Given the description of an element on the screen output the (x, y) to click on. 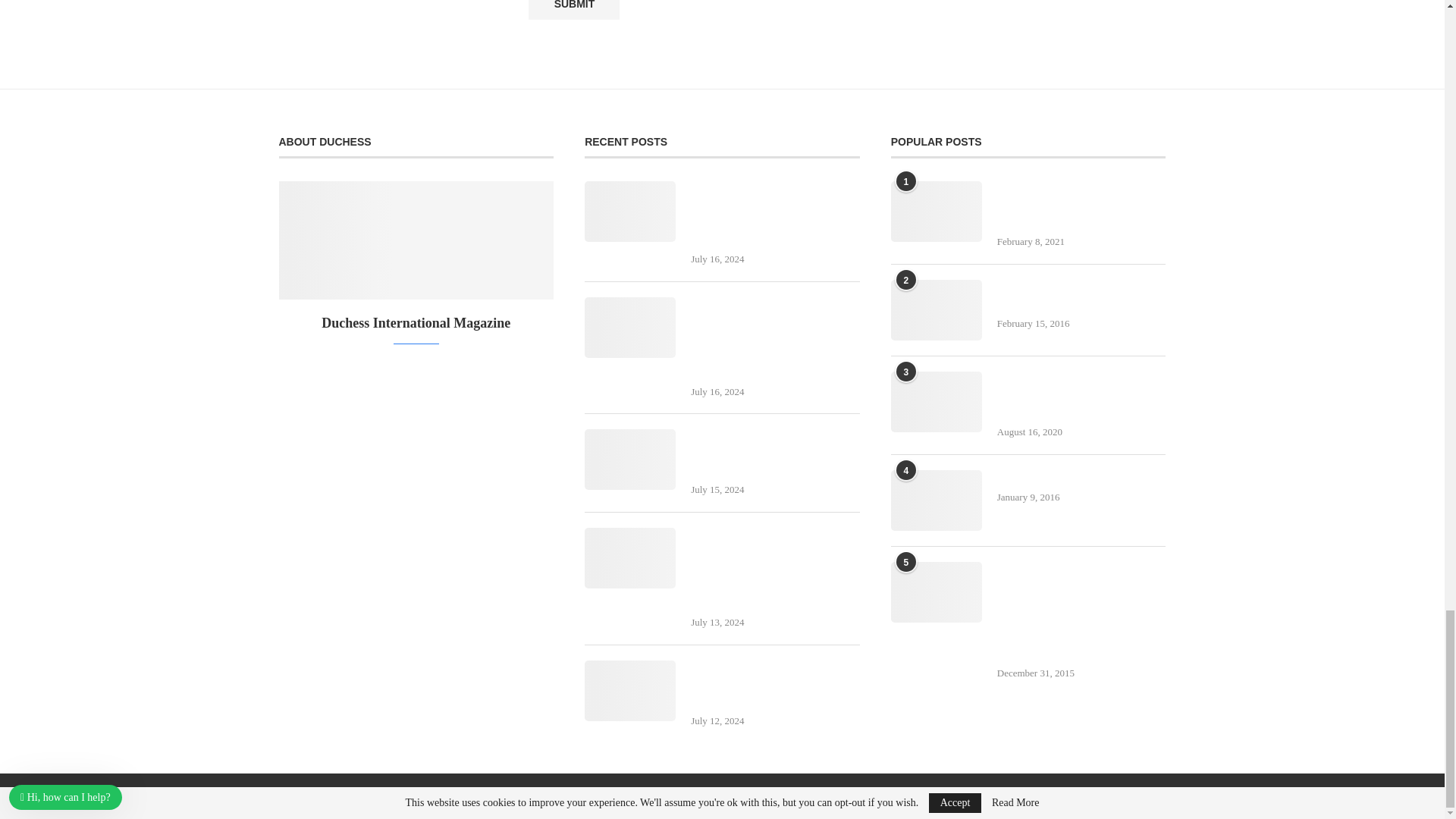
Submit (574, 9)
